Given the description of an element on the screen output the (x, y) to click on. 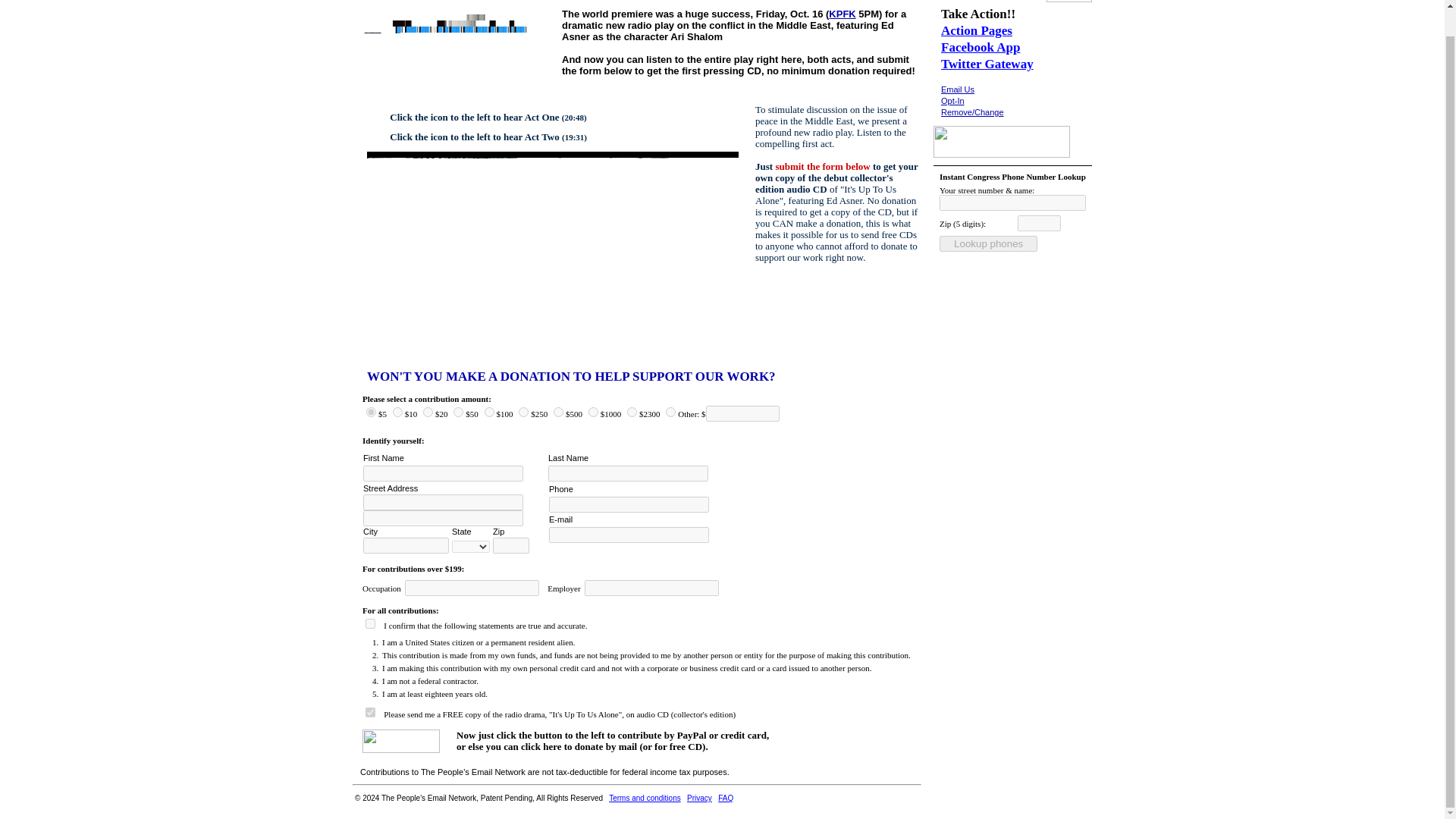
Opt-In (951, 100)
   Lookup phones    (987, 243)
Action Pages (975, 30)
2300 (632, 411)
Privacy (699, 797)
50 (457, 411)
100 (488, 411)
1000 (593, 411)
Terms and conditions (644, 797)
5 (370, 411)
Email Us (957, 89)
10 (398, 411)
Twitter Gateway (986, 63)
KPFK (842, 13)
FAQ (725, 797)
